Given the description of an element on the screen output the (x, y) to click on. 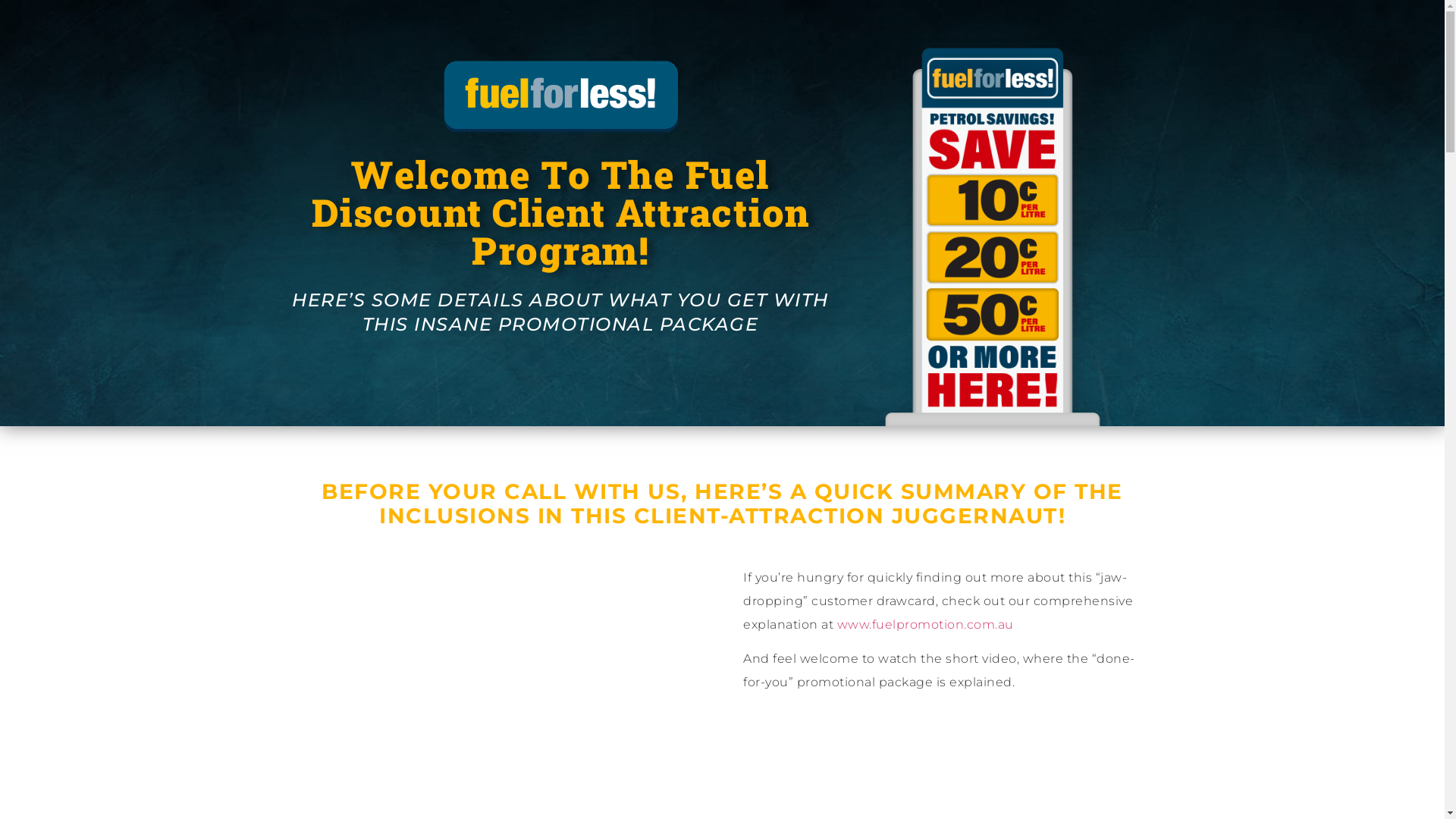
Pylon_2 Element type: hover (992, 231)
www.fuelpromotion.com.au Element type: text (925, 624)
